Given the description of an element on the screen output the (x, y) to click on. 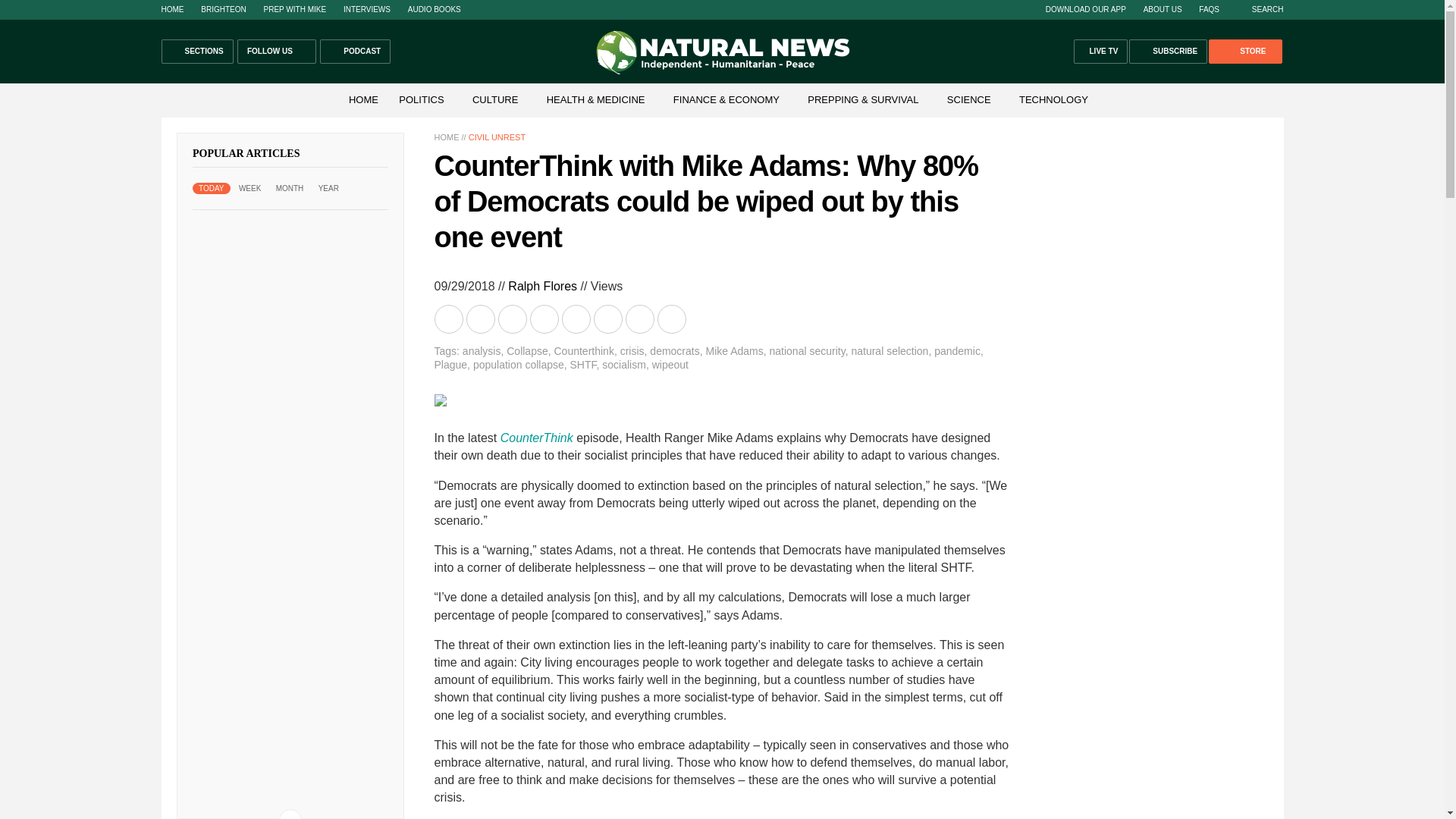
Share on Twitter (513, 318)
Share on Gettr (640, 318)
Share on GAB (576, 318)
SCIENCE (968, 99)
ABOUT US (1162, 8)
Share on Telegram (544, 318)
BRIGHTEON (223, 8)
CIVIL UNREST (496, 136)
HOME (171, 8)
CULTURE (495, 99)
